Given the description of an element on the screen output the (x, y) to click on. 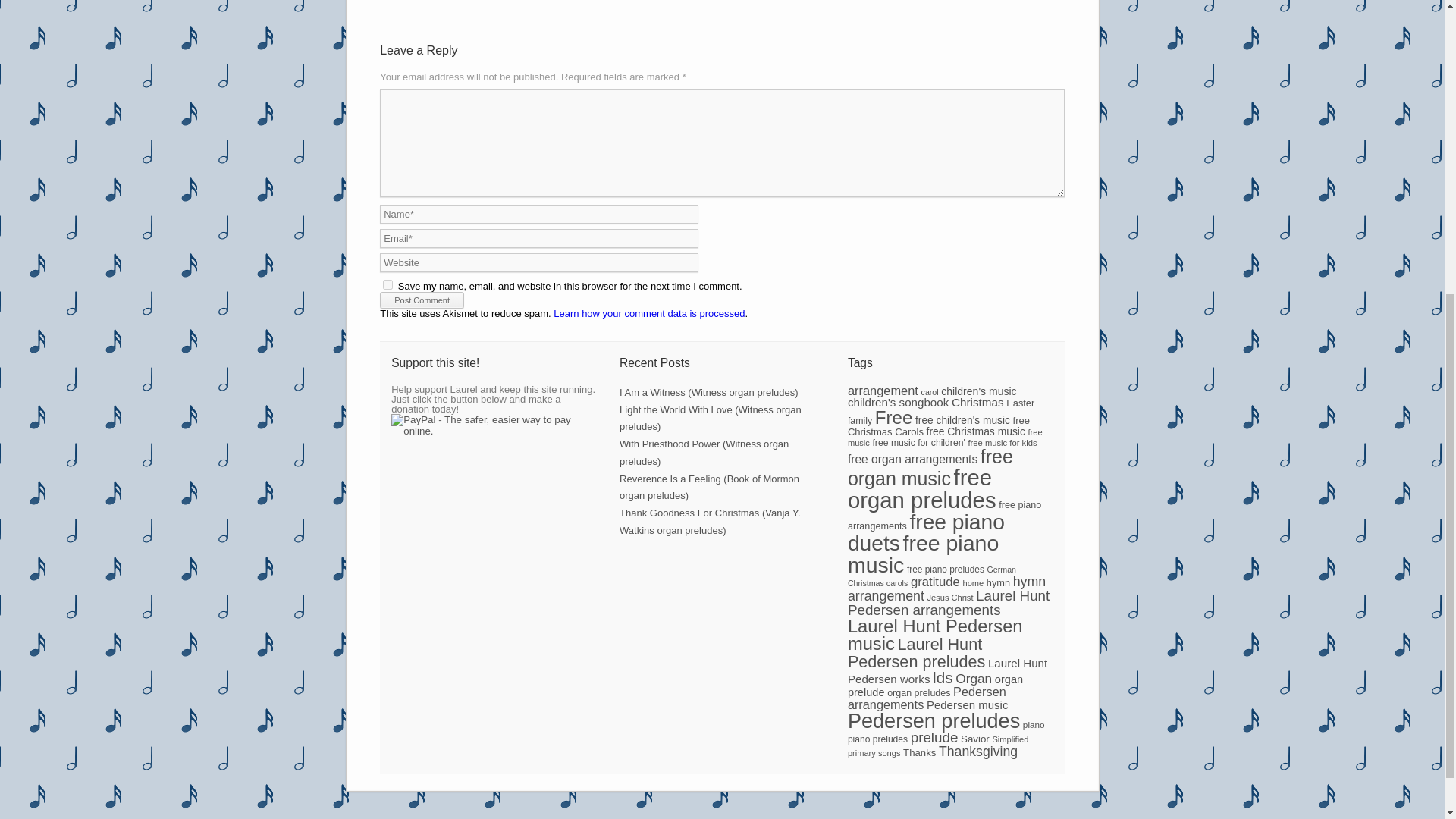
Post Comment (422, 299)
Christmas (978, 401)
Post Comment (422, 299)
arrangement (882, 390)
free children's music (962, 419)
Learn how your comment data is processed (648, 313)
children's songbook (898, 401)
carol (930, 391)
Easter (1019, 402)
family (859, 420)
